Given the description of an element on the screen output the (x, y) to click on. 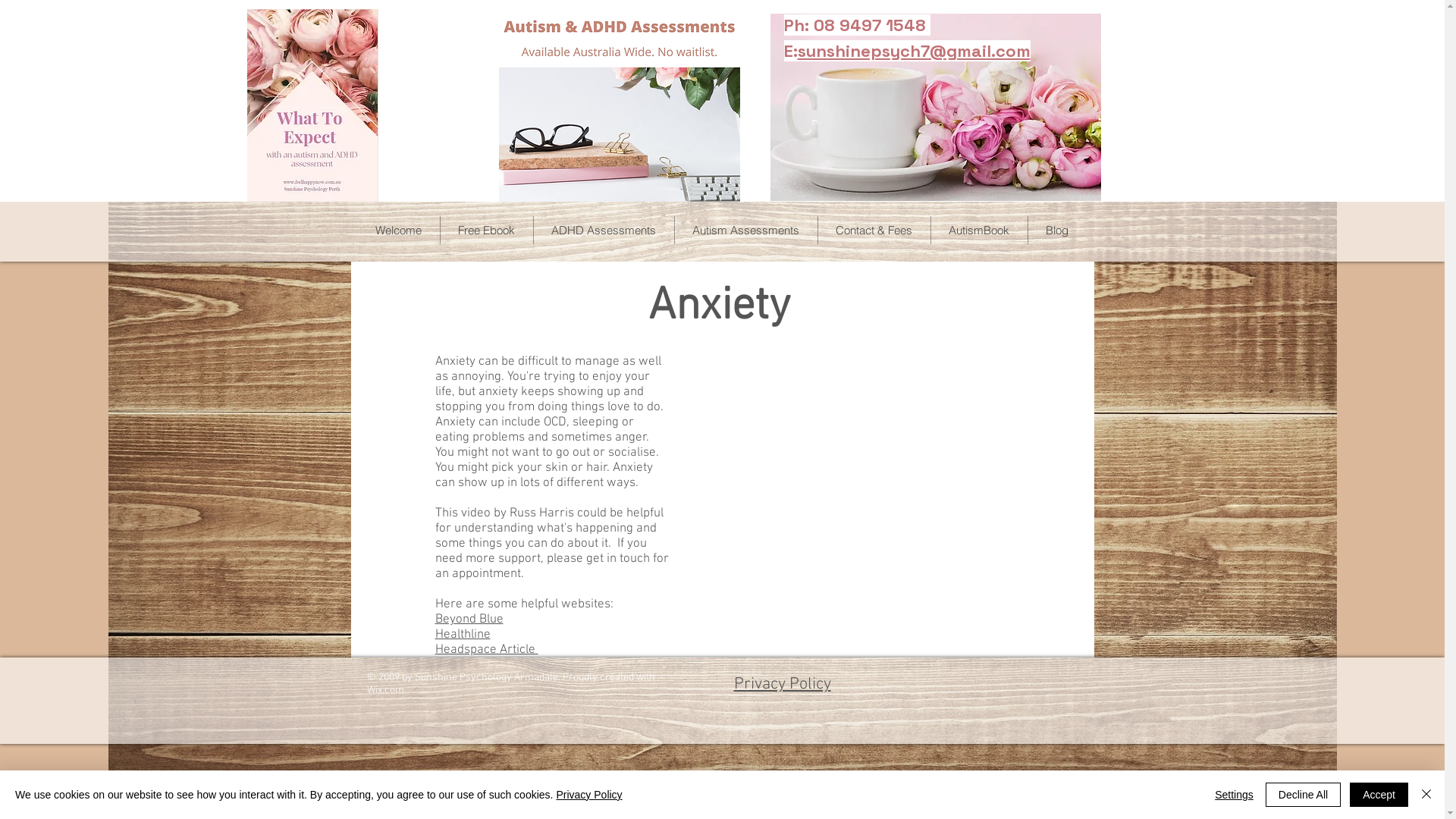
Healthline Element type: text (462, 634)
Privacy Policy Element type: text (782, 684)
Decline All Element type: text (1302, 794)
Headspace Article  Element type: text (486, 649)
Welcome Element type: text (398, 230)
sunshinepsych7@gmail.com Element type: text (913, 50)
ADHD Assessments Element type: text (602, 230)
Autism Assessments Element type: text (744, 230)
AutismBook Element type: text (977, 230)
Blog Element type: text (1055, 230)
Beyond Blue Element type: text (469, 619)
Free Ebook Element type: text (486, 230)
Wix.com Element type: text (385, 690)
Accept Element type: text (1378, 794)
Contact & Fees Element type: text (873, 230)
What To Expect Updated.png Element type: hover (312, 105)
Privacy Policy Element type: text (588, 794)
